Given the description of an element on the screen output the (x, y) to click on. 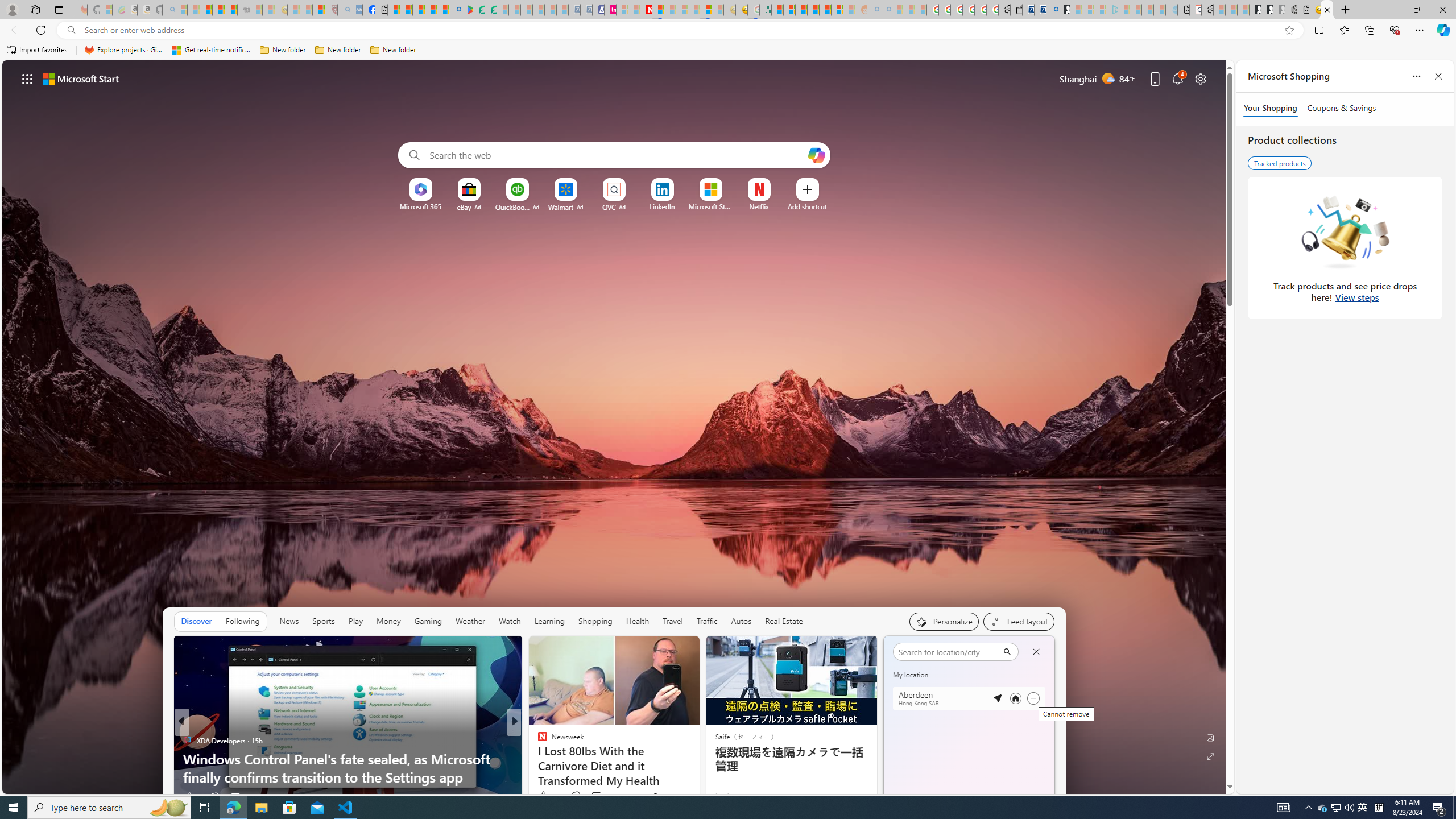
Autos (740, 621)
Expect rain showers next Tuesday (1040, 678)
Food Republic (537, 758)
57 Like (543, 796)
Page settings (1200, 78)
Autos (740, 621)
BGR (537, 740)
View comments 73 Comment (595, 795)
